Given the description of an element on the screen output the (x, y) to click on. 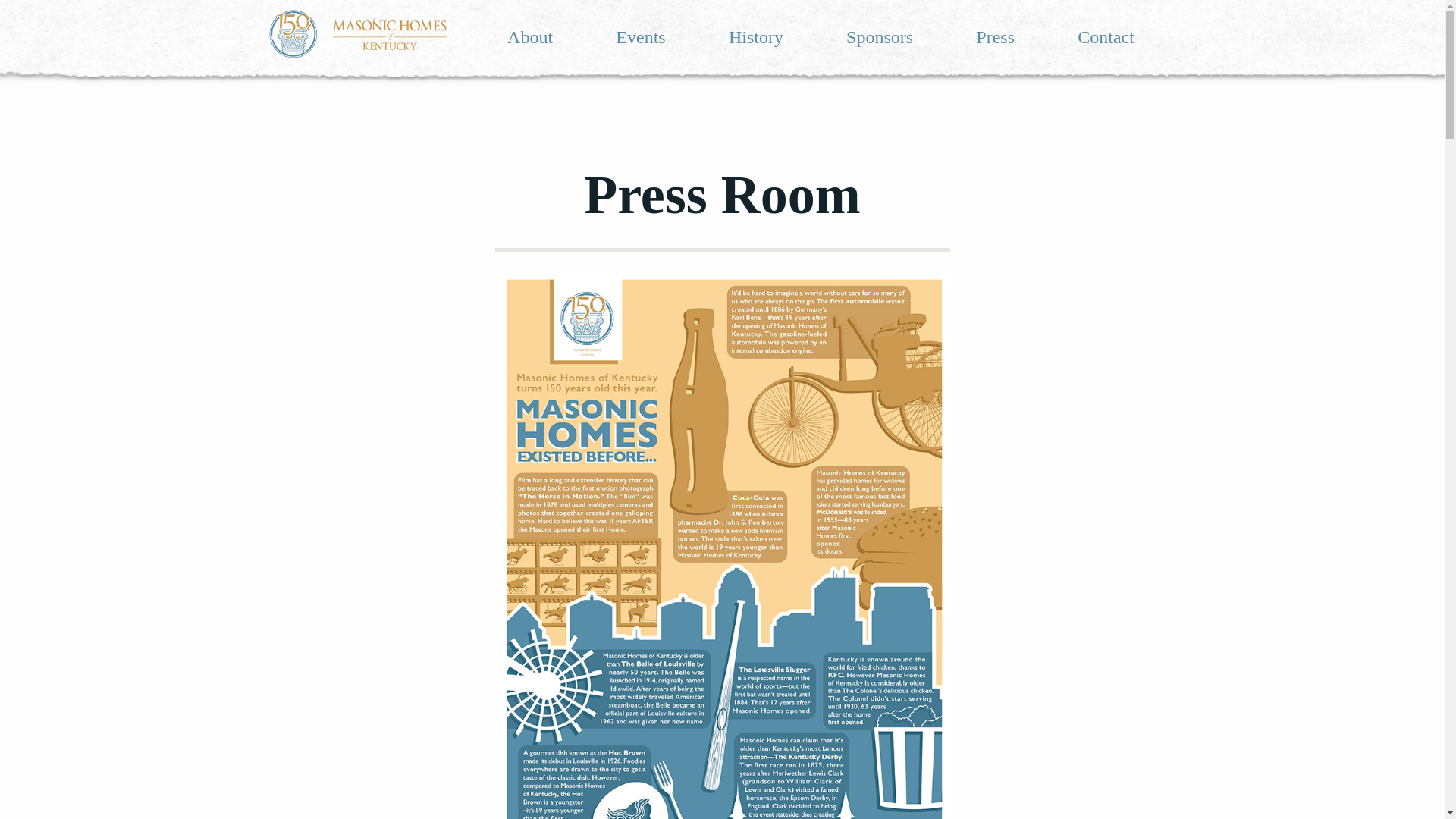
About (529, 36)
Events (640, 36)
Sponsors (878, 36)
History (756, 36)
Contact (1105, 36)
Press (994, 36)
